Given the description of an element on the screen output the (x, y) to click on. 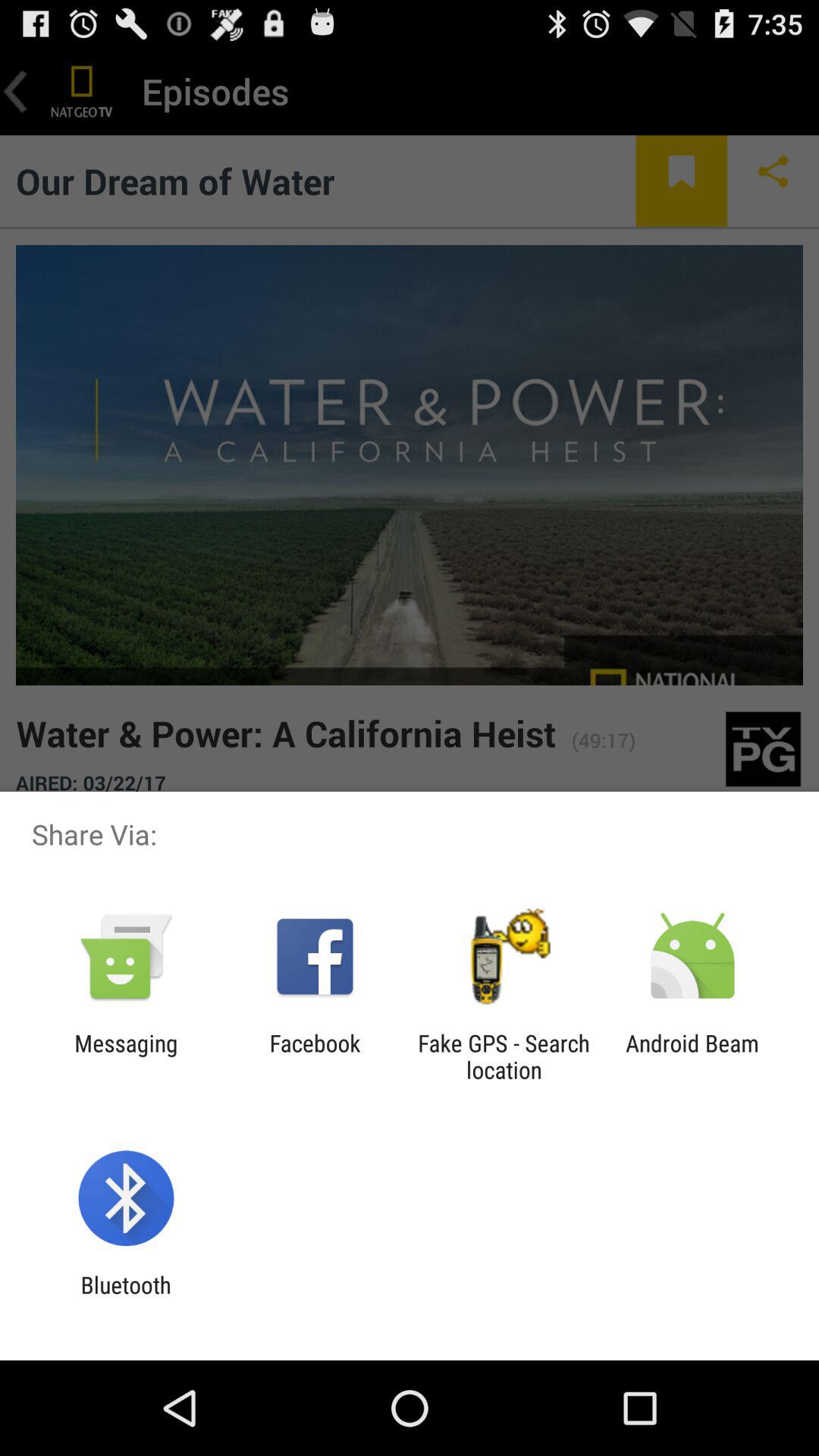
turn off icon to the left of the facebook item (126, 1056)
